Given the description of an element on the screen output the (x, y) to click on. 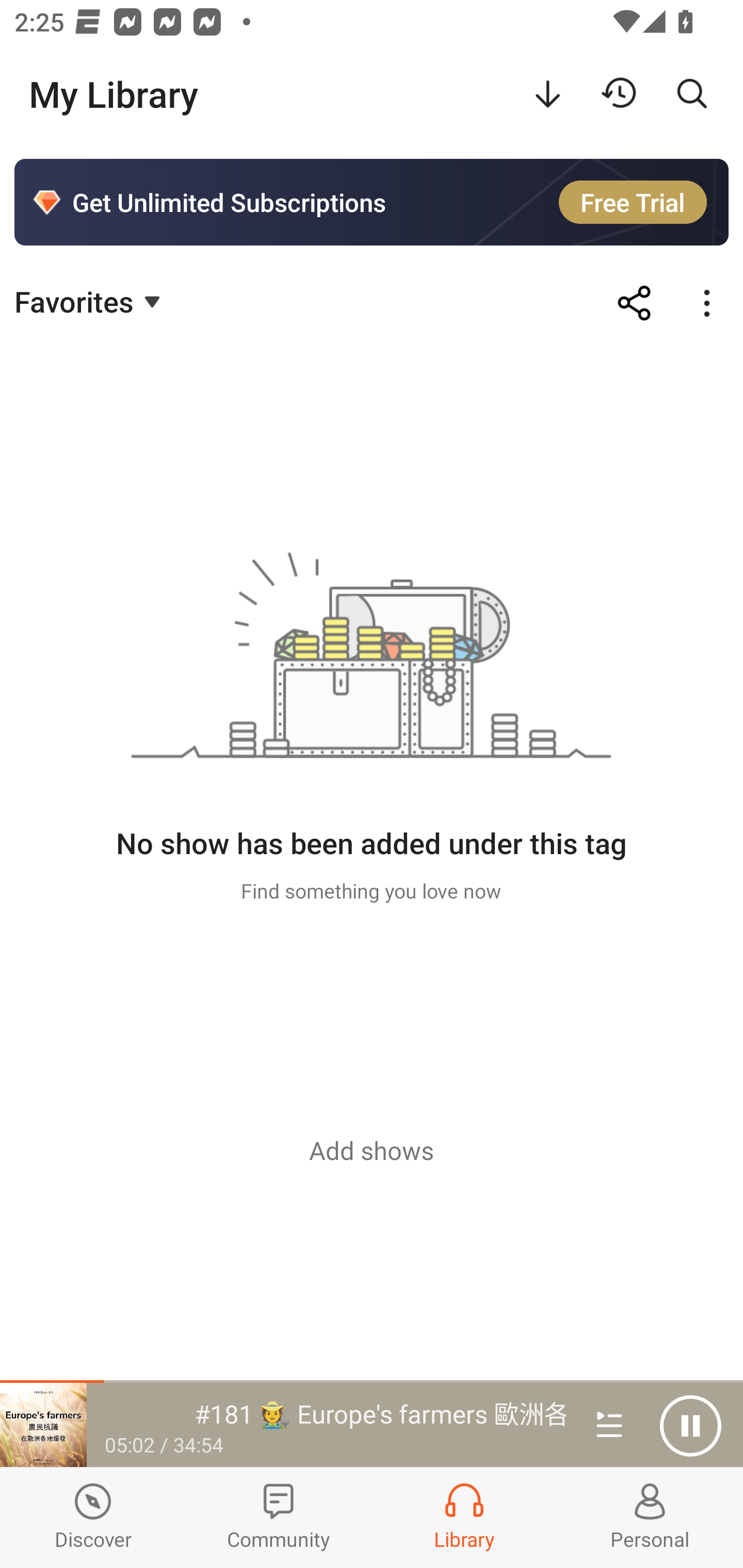
Get Unlimited Subscriptions Free Trial (371, 202)
Free Trial (632, 202)
Favorites (90, 300)
Add shows (371, 1150)
#181 🧑‍🌾 Europe's farmers 歐洲各地爆發農民抗議 05:02 / 34:54 (283, 1424)
Pause (690, 1425)
Discover (92, 1517)
Community (278, 1517)
Library (464, 1517)
Profiles and Settings Personal (650, 1517)
